Given the description of an element on the screen output the (x, y) to click on. 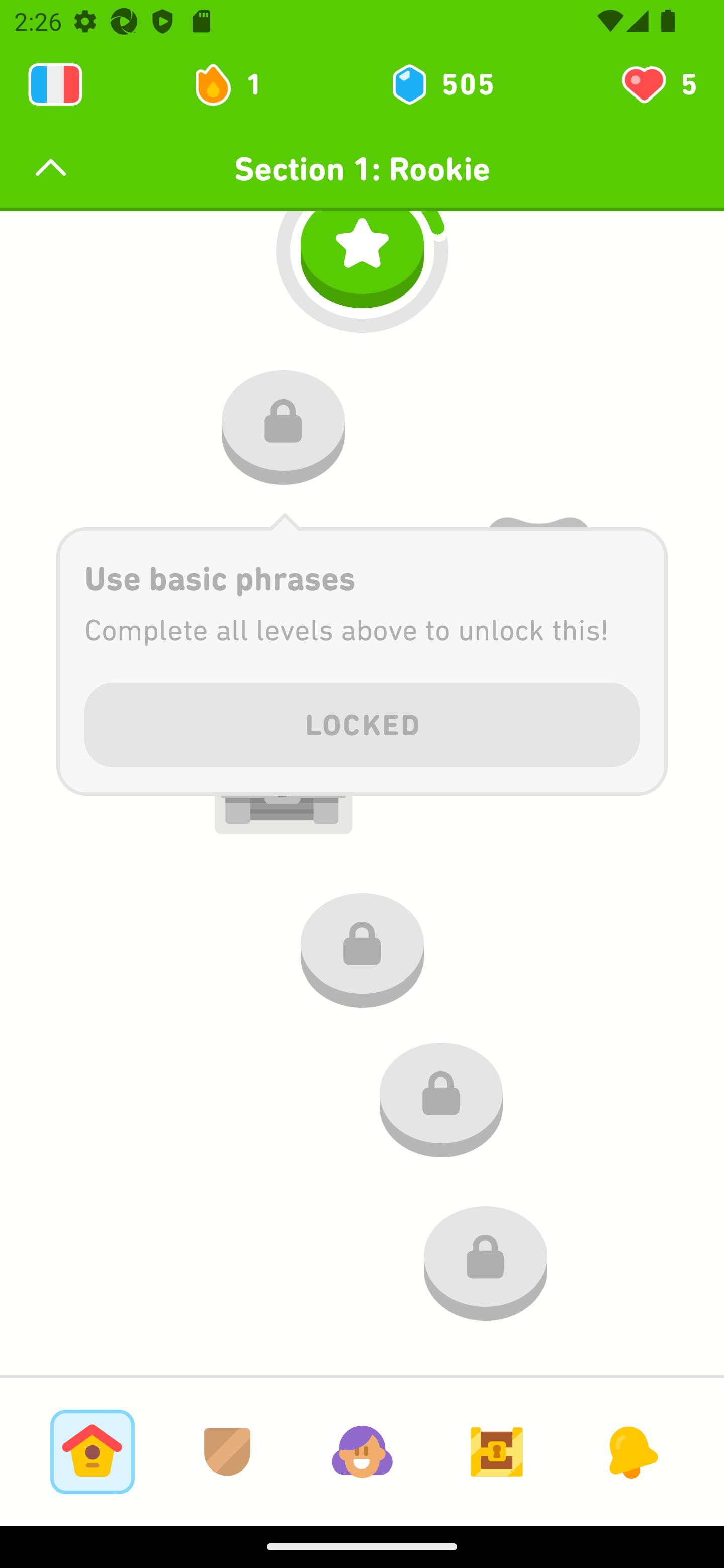
Learning 2131888976 (55, 84)
1 day streak 1 (236, 84)
505 (441, 84)
You have 5 hearts left 5 (657, 84)
Section 1: Rookie (362, 169)
LOCKED (361, 720)
Learn Tab (91, 1451)
Leagues Tab (227, 1451)
Profile Tab (361, 1451)
Goals Tab (496, 1451)
News Tab (631, 1451)
